Given the description of an element on the screen output the (x, y) to click on. 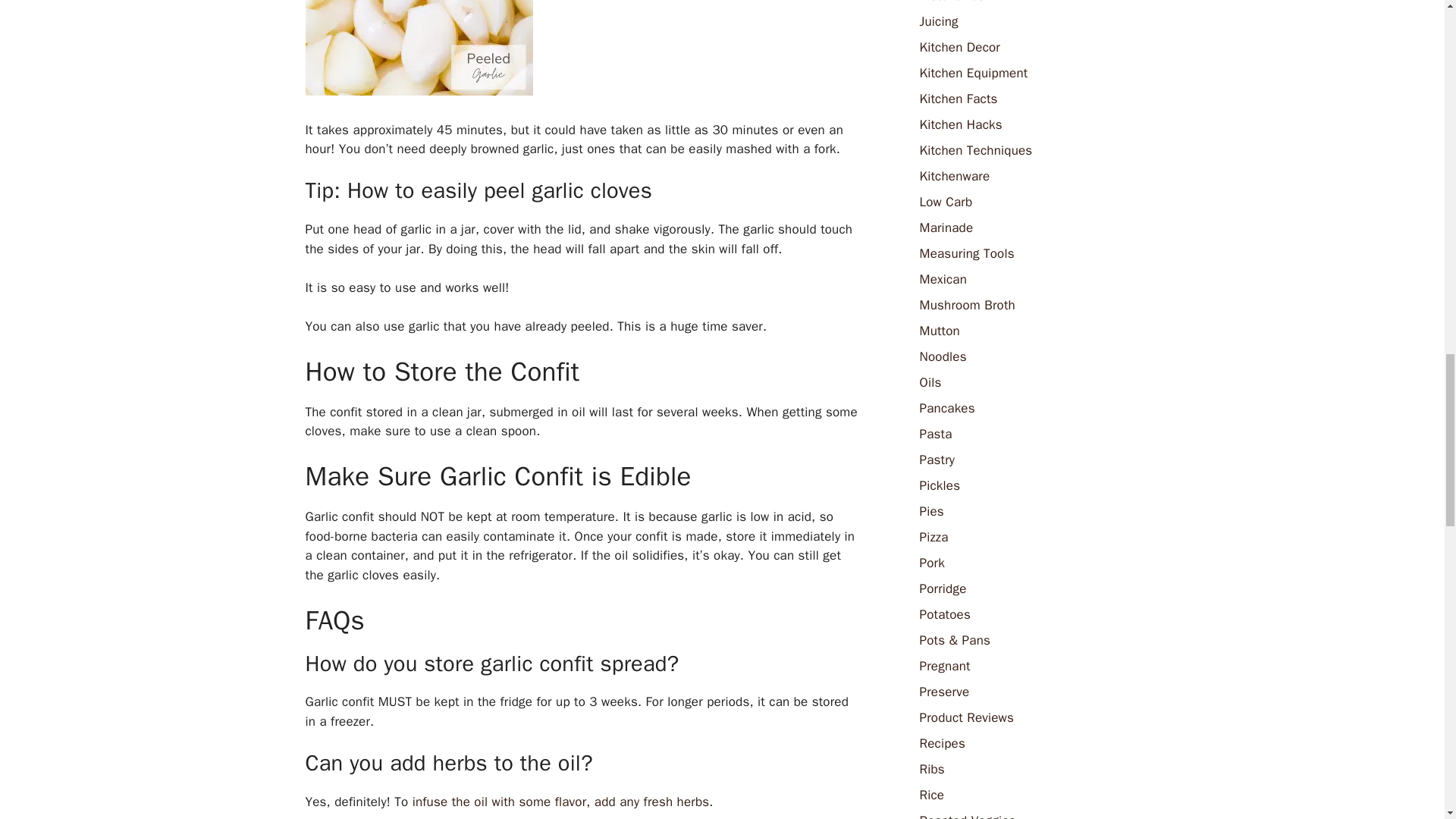
infuse the oil with some flavor, add any fresh herbs (558, 801)
